Given the description of an element on the screen output the (x, y) to click on. 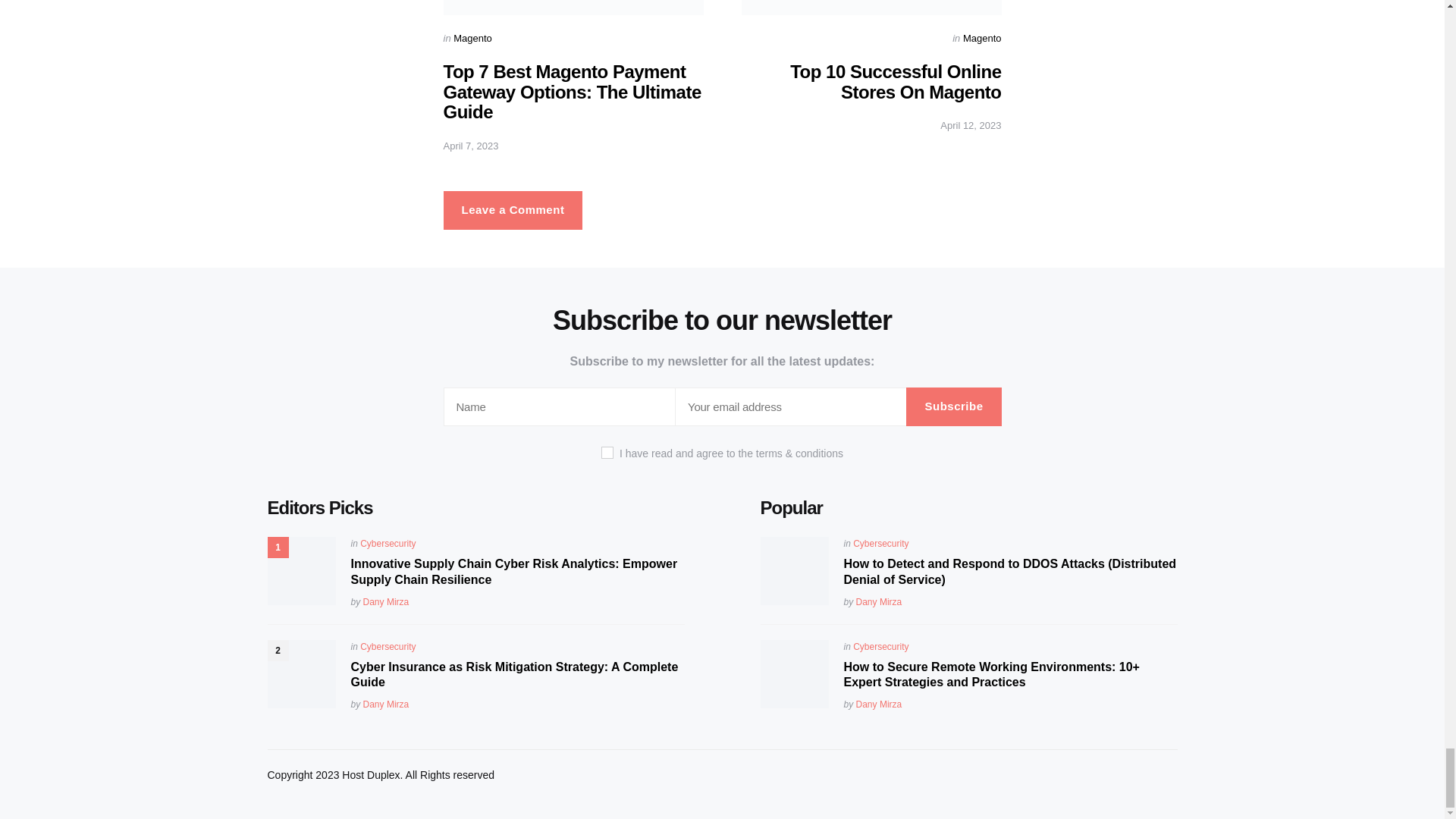
1 (606, 452)
Subscribe (953, 406)
